Given the description of an element on the screen output the (x, y) to click on. 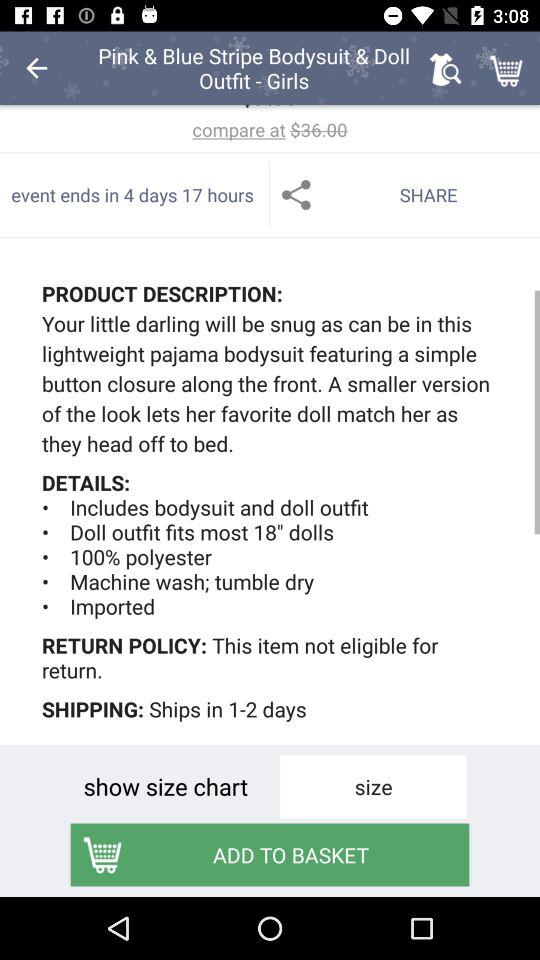
choose the add to basket item (269, 854)
